Given the description of an element on the screen output the (x, y) to click on. 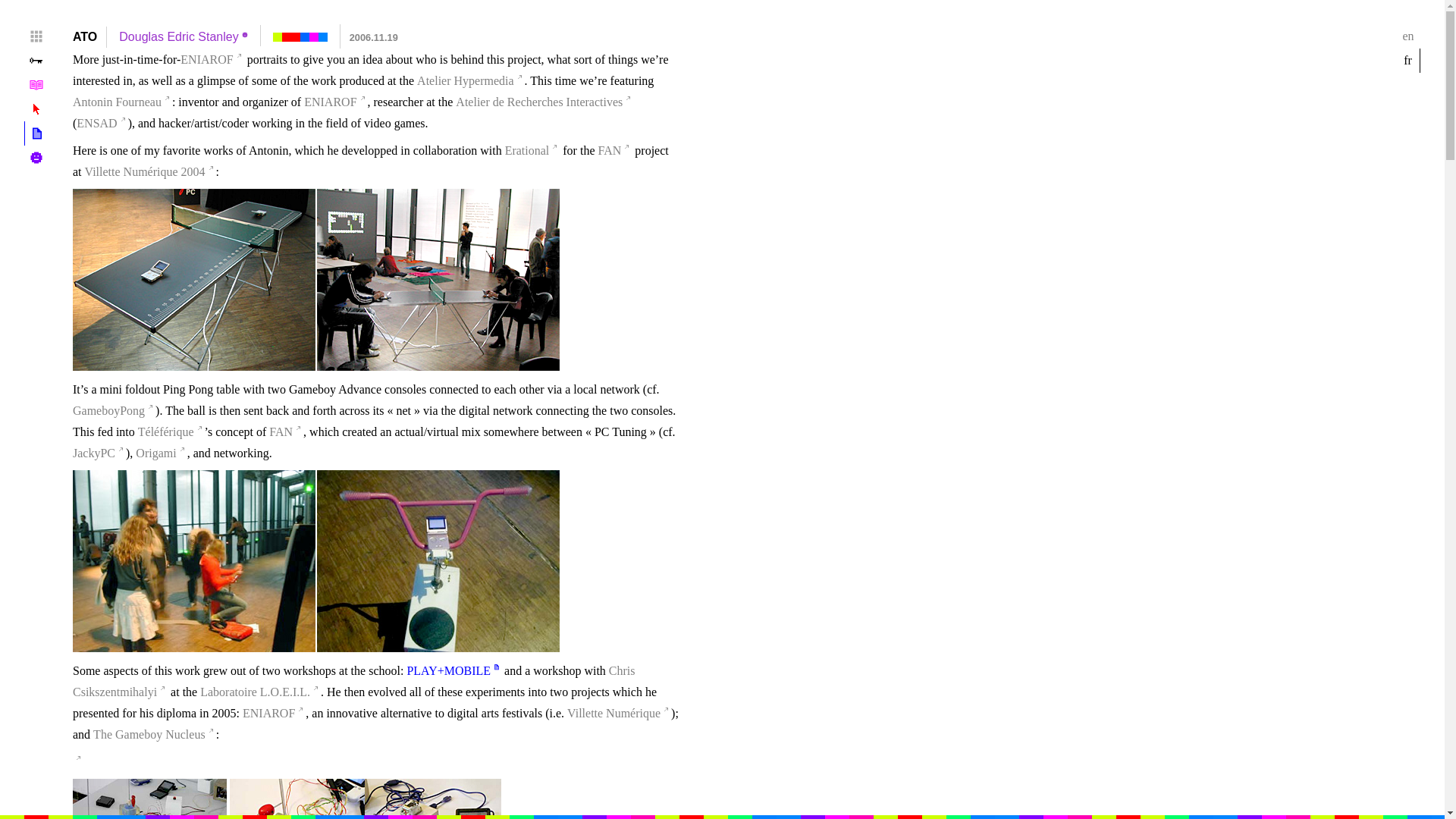
FAN (285, 431)
JackyPC (99, 452)
Laboratoire L.O.E.I.L. (259, 691)
Atelier Hypermedia (470, 80)
The Gameboy Nucleus (154, 733)
ENIAROF (211, 58)
Antonin Fourneau (122, 101)
Origami (160, 452)
ENSAD (101, 122)
Antonin Fourneau, (298, 798)
